Given the description of an element on the screen output the (x, y) to click on. 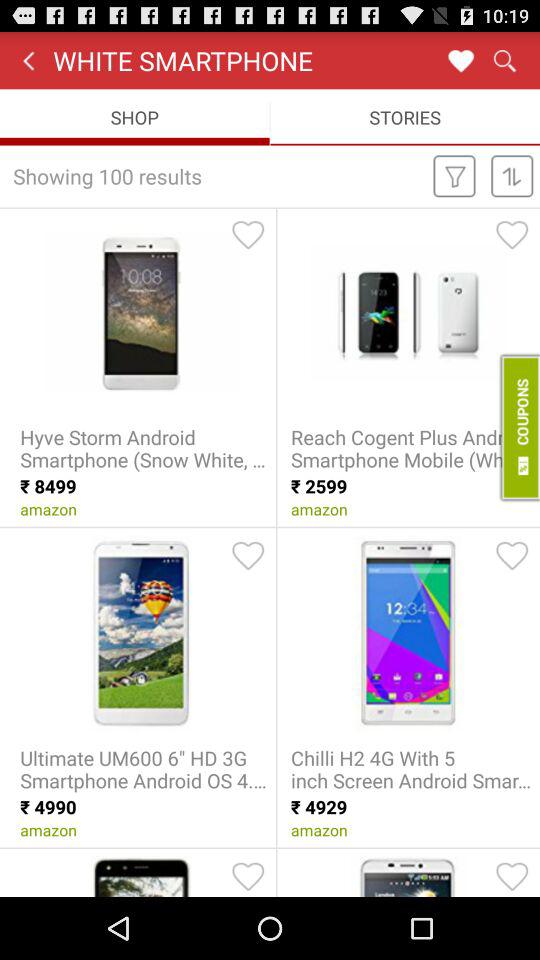
click stories icon (405, 116)
